Given the description of an element on the screen output the (x, y) to click on. 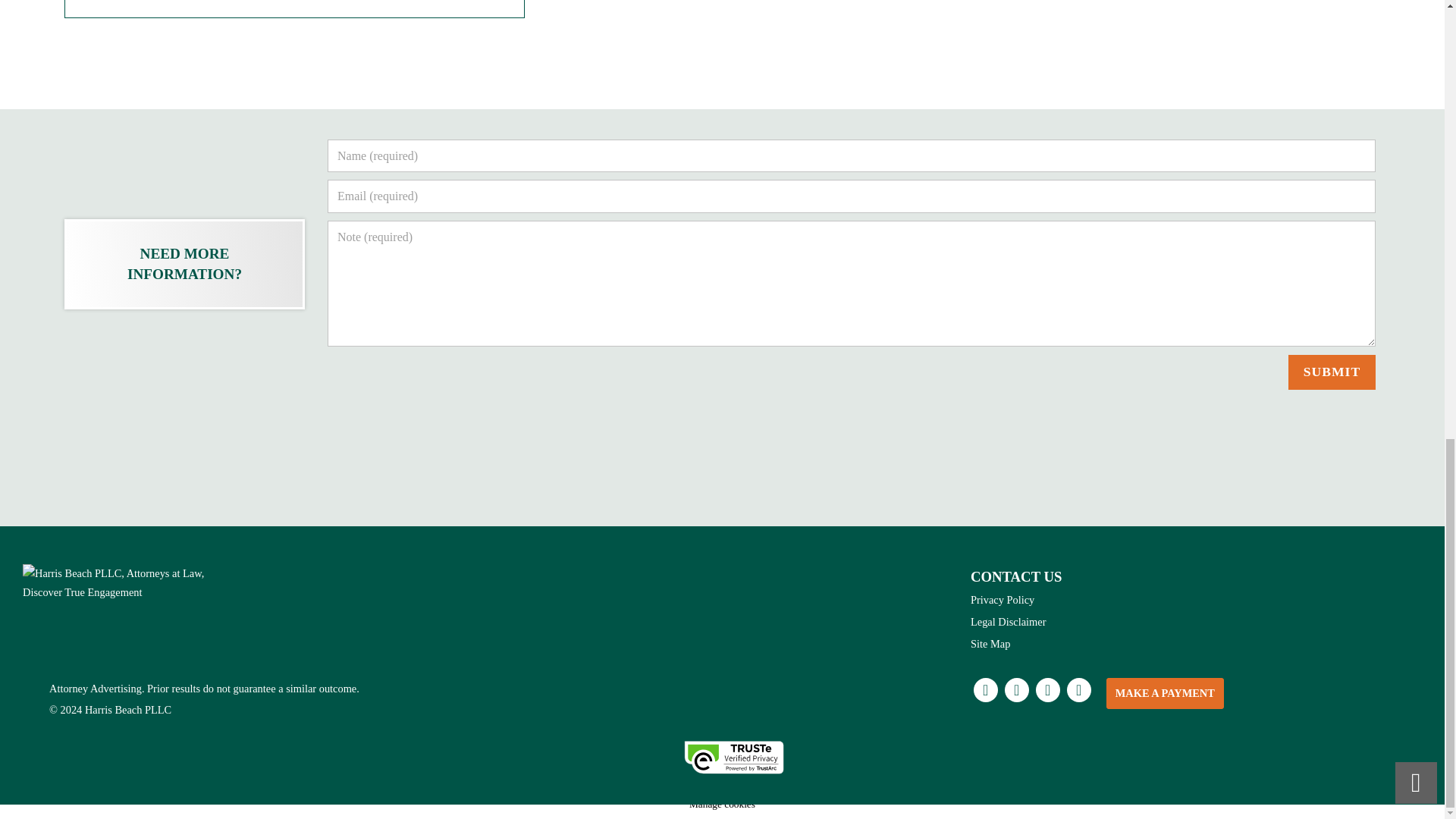
harris-beach-full-logo-white (117, 583)
